Given the description of an element on the screen output the (x, y) to click on. 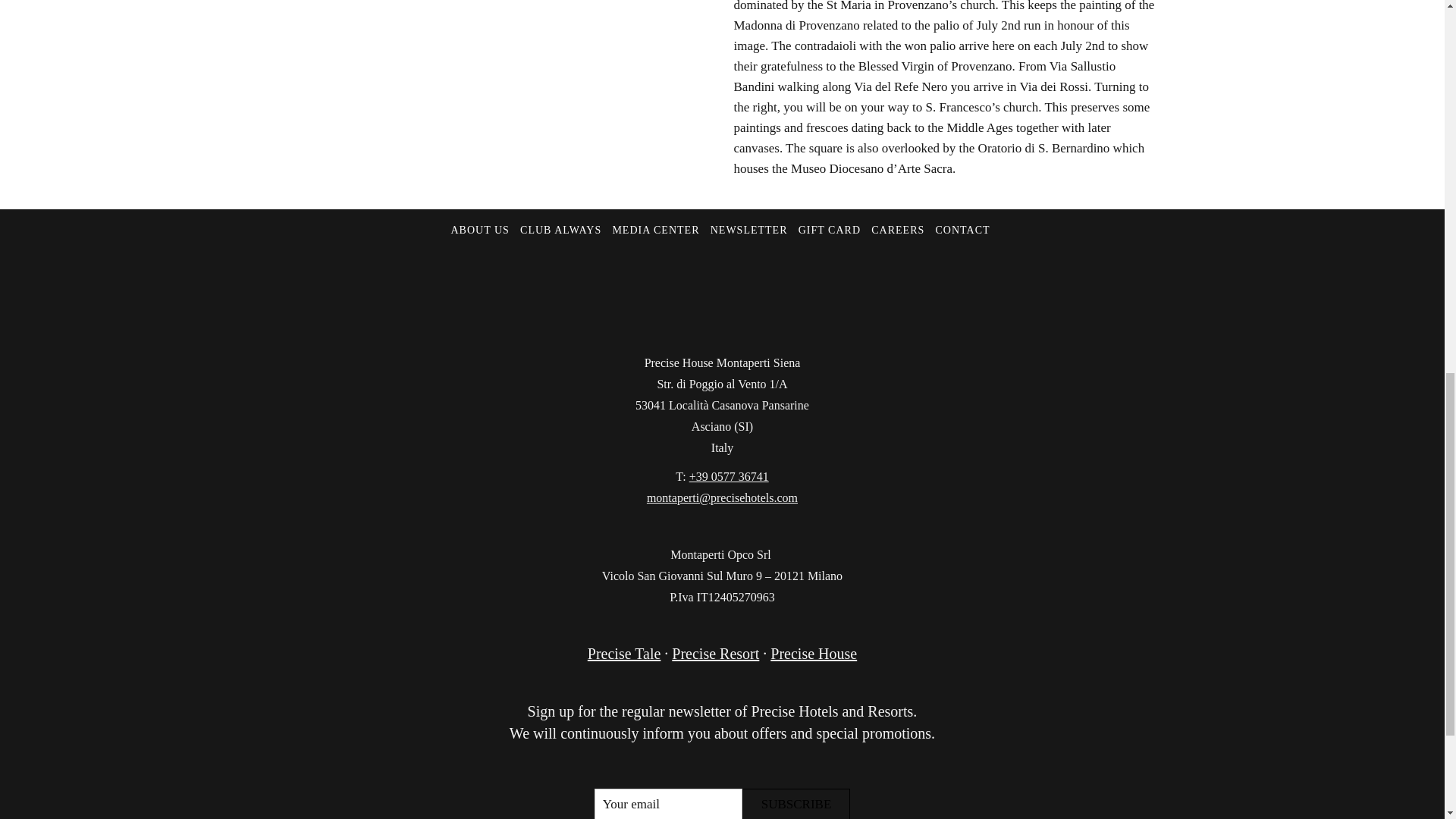
ABOUT US (478, 242)
Precise Tale (624, 653)
Precise Resort (714, 653)
GIFT CARD (828, 242)
CAREERS (897, 242)
CONTACT (963, 242)
Precise House (813, 653)
CLUB ALWAYS (560, 242)
NEWSLETTER (748, 242)
MEDIA CENTER (654, 242)
SUBSCRIBE (796, 803)
